Given the description of an element on the screen output the (x, y) to click on. 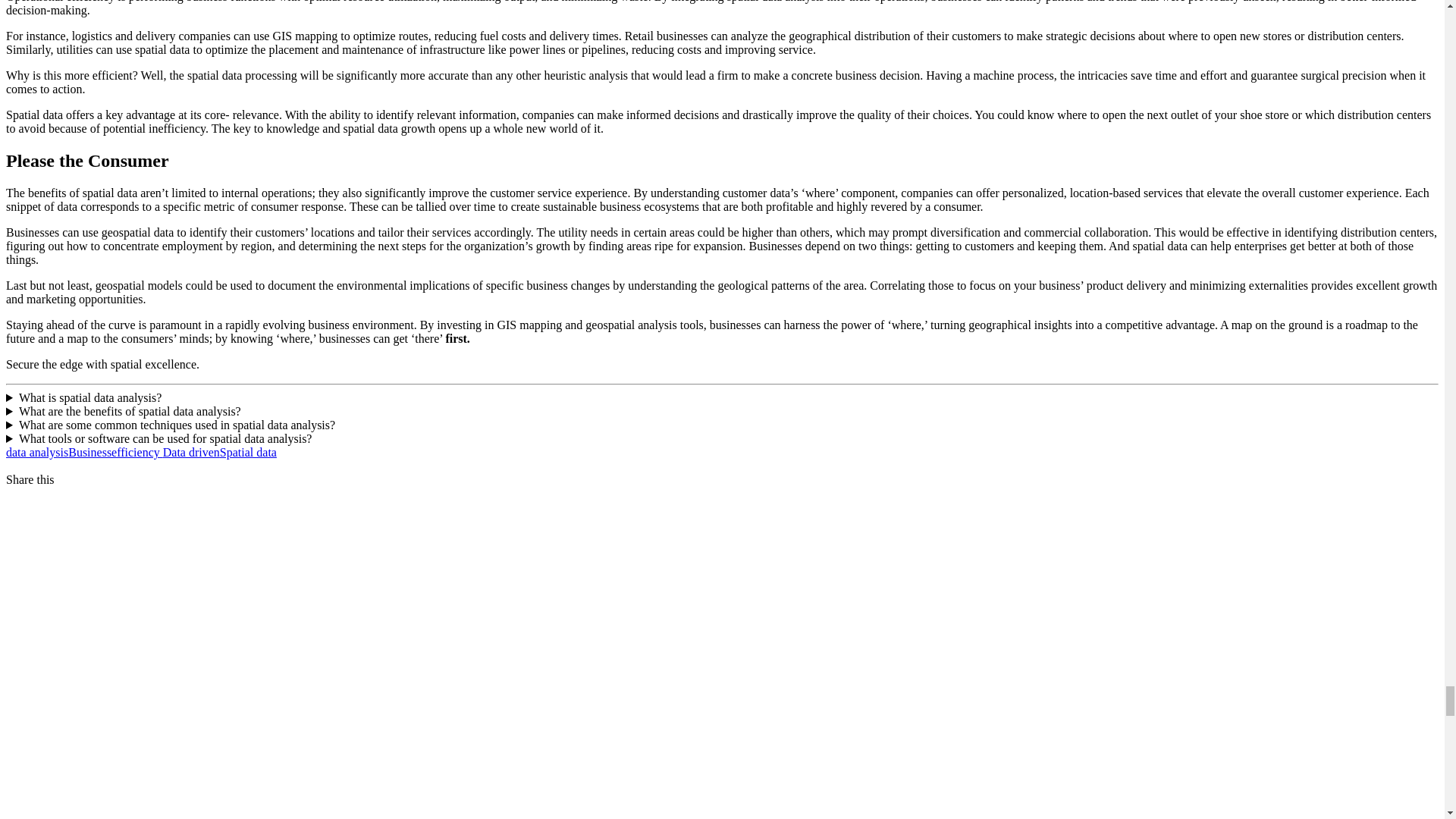
data analysis (36, 451)
Businessefficiency (115, 451)
Spatial data (247, 451)
Data driven (191, 451)
